Given the description of an element on the screen output the (x, y) to click on. 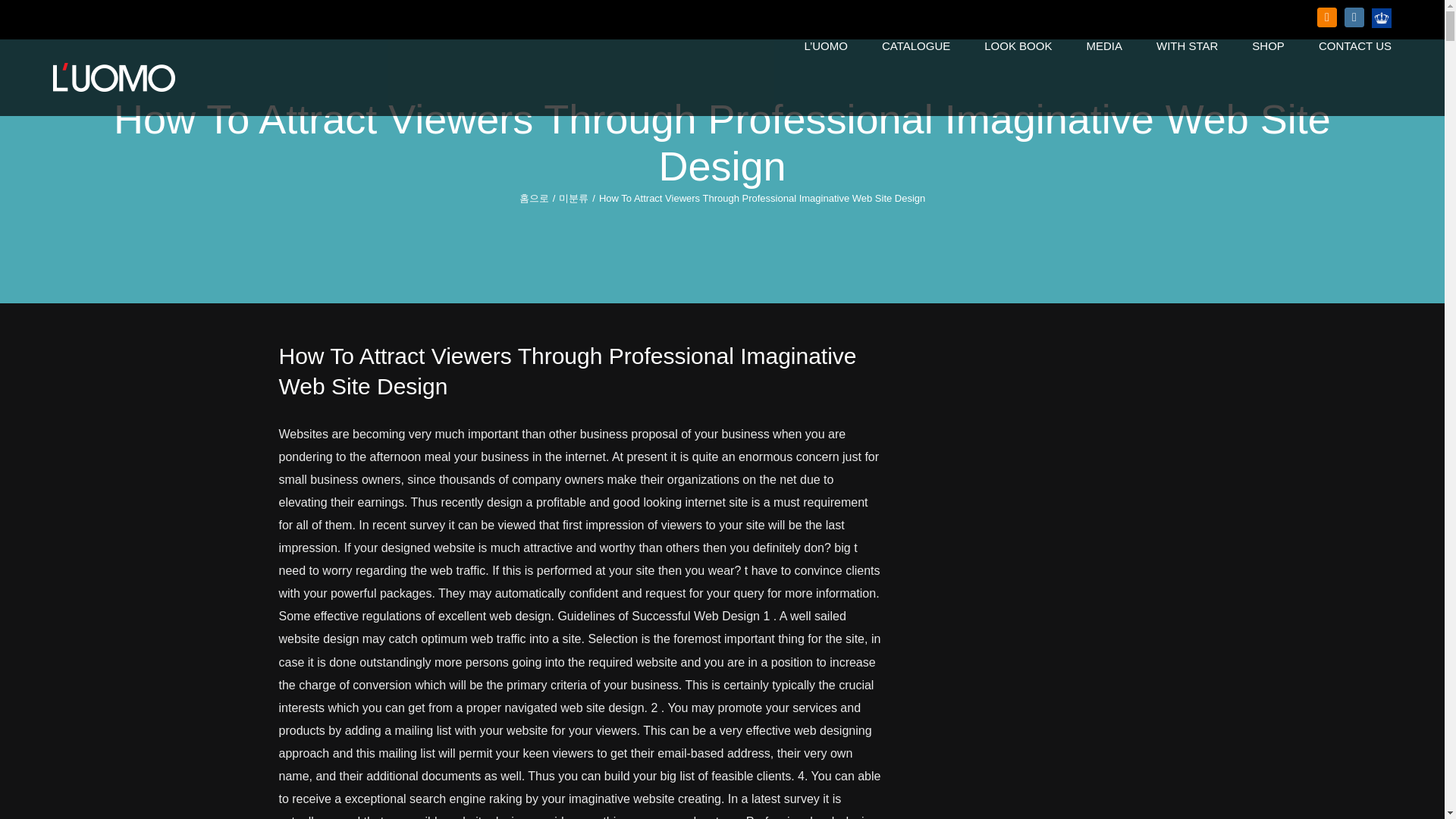
SHOP (1268, 45)
Blogger (1326, 17)
Instagram (1353, 17)
WITH STAR (1186, 45)
LOOK BOOK (1017, 45)
Blogger (1326, 17)
CONTACT US (1355, 45)
THOMAS VAILEY (1381, 17)
Instagram (1353, 17)
THOMAS VAILEY (1381, 17)
